Given the description of an element on the screen output the (x, y) to click on. 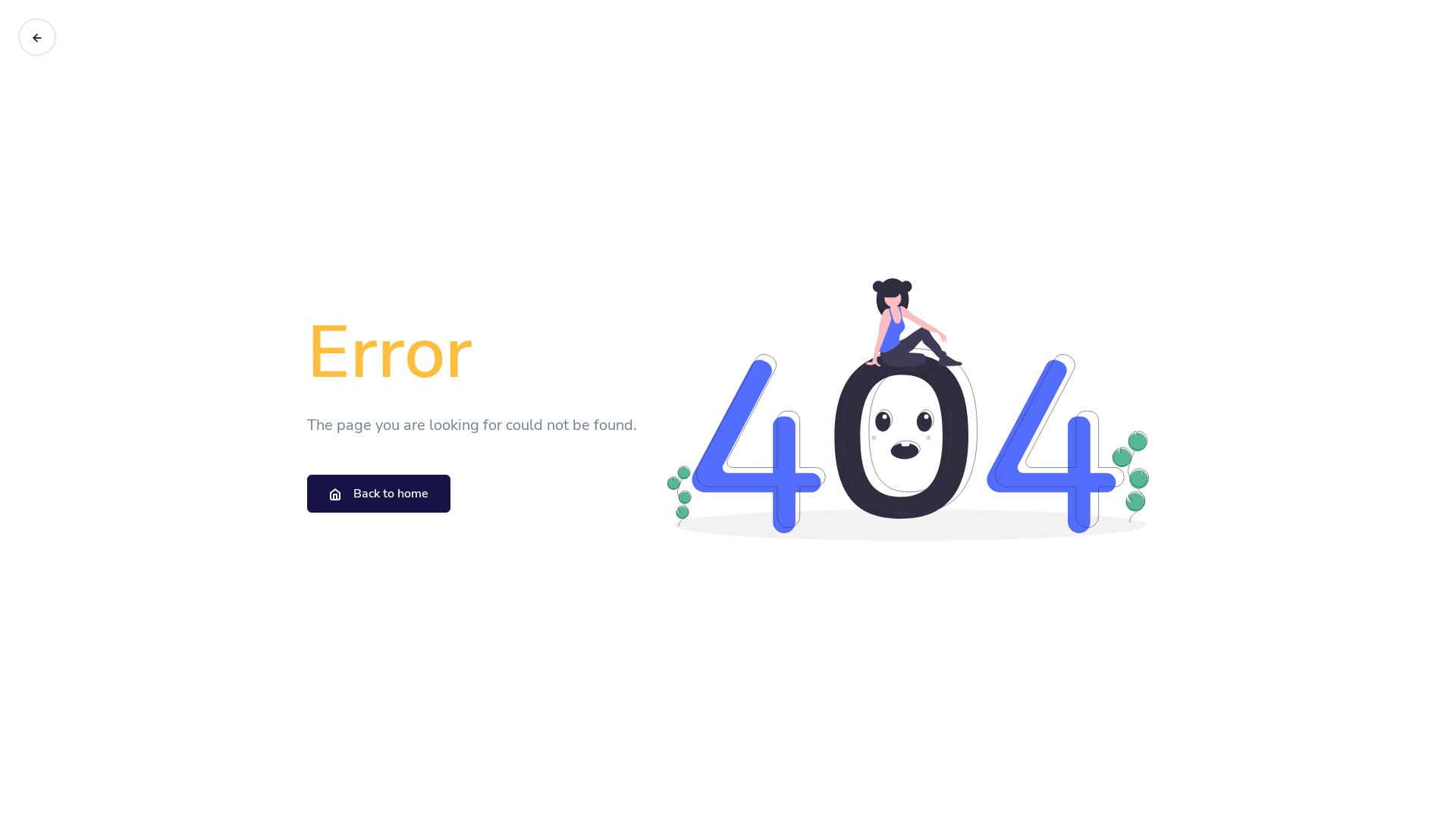
Go back Element type: hover (37, 37)
Back to home Element type: text (378, 493)
